Given the description of an element on the screen output the (x, y) to click on. 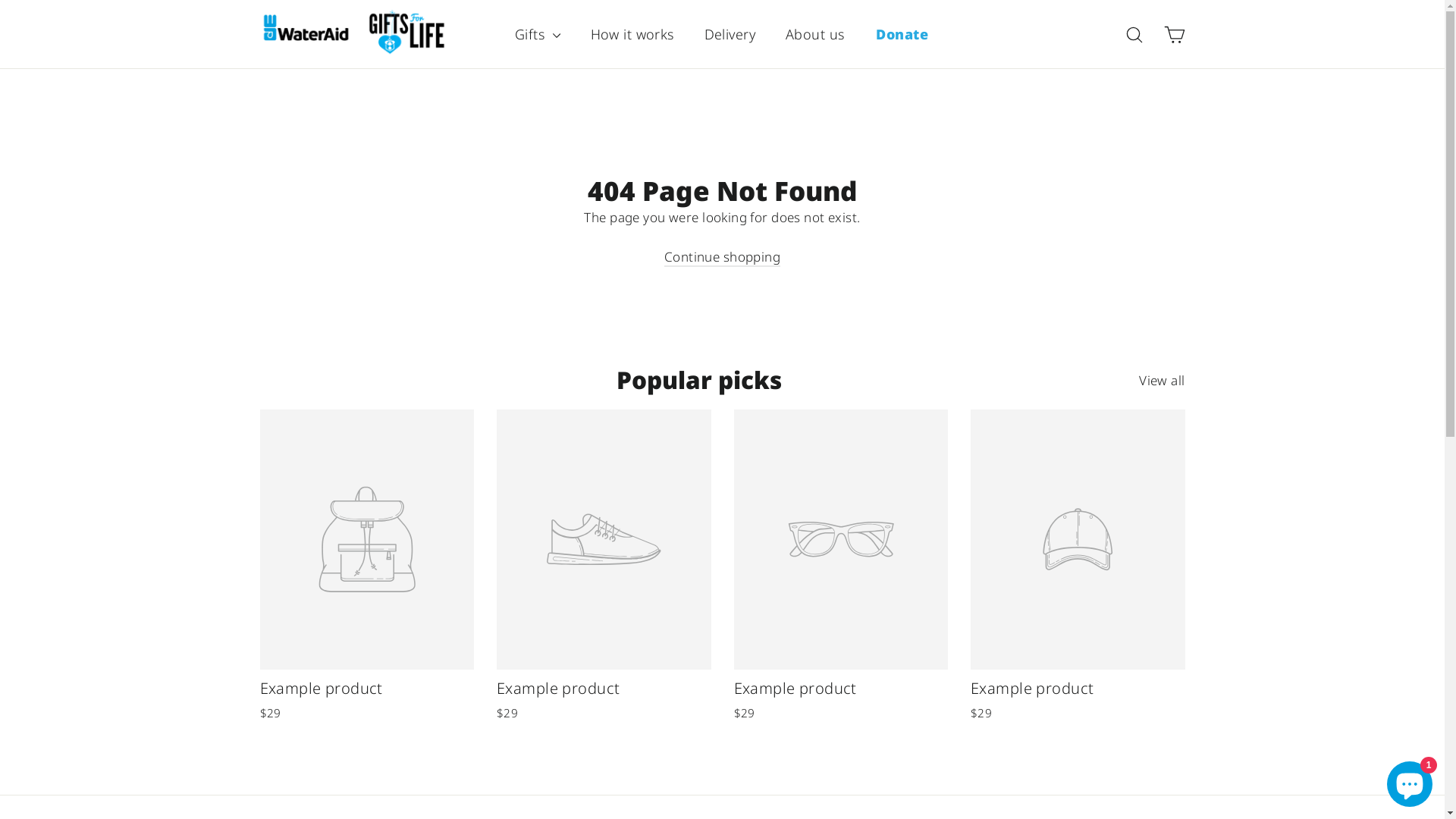
Search Element type: text (1134, 34)
Example product
$29 Element type: text (1077, 567)
Delivery Element type: text (729, 34)
Example product
$29 Element type: text (603, 567)
Continue shopping Element type: text (722, 256)
Shopify online store chat Element type: hover (1409, 780)
View all Element type: text (1161, 377)
Example product
$29 Element type: text (841, 567)
Gifts Element type: text (537, 34)
Cart Element type: text (1173, 34)
How it works Element type: text (632, 34)
Donate Element type: text (901, 34)
Example product
$29 Element type: text (366, 567)
About us Element type: text (814, 34)
